Given the description of an element on the screen output the (x, y) to click on. 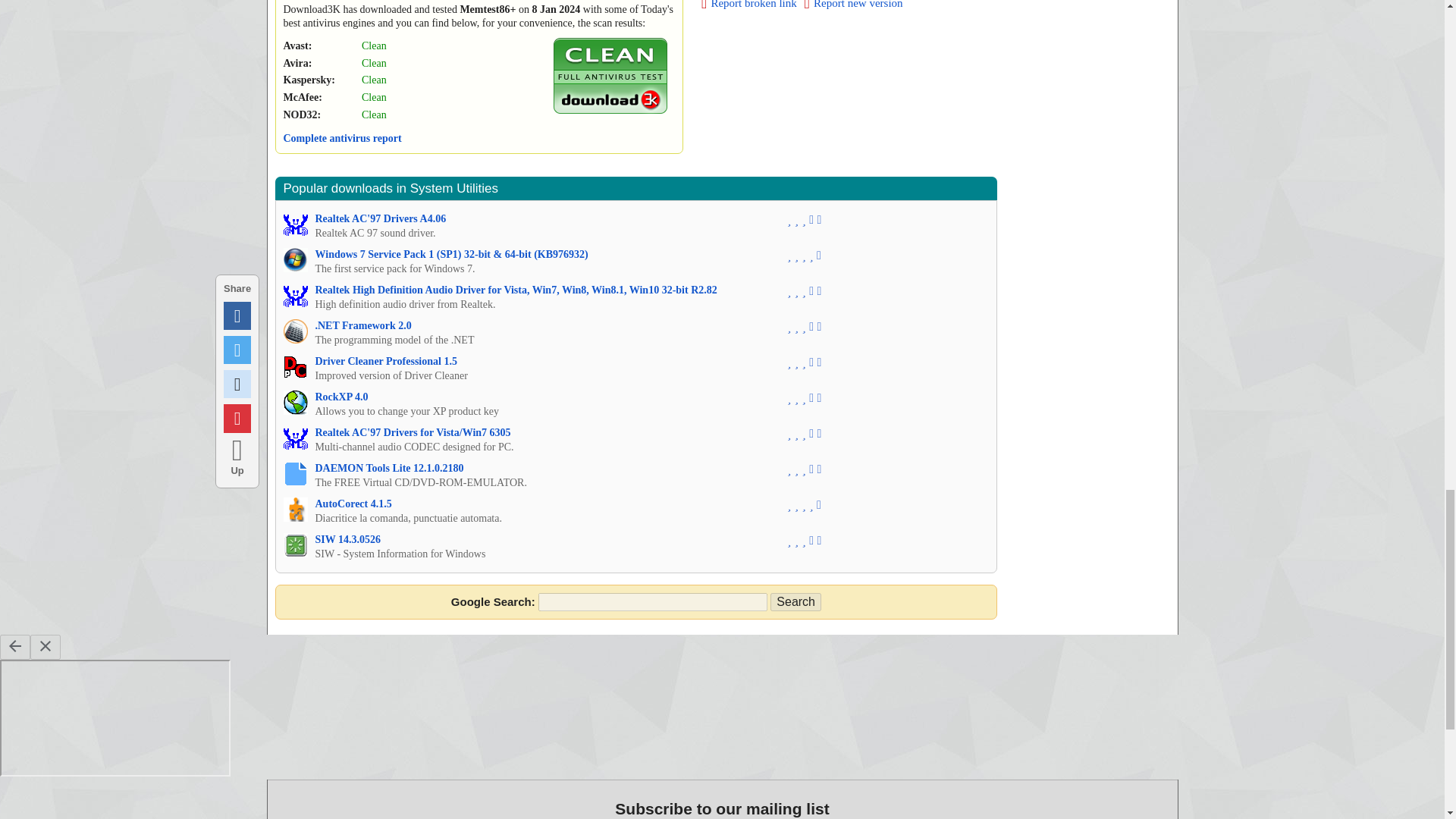
Realtek AC'97 Drivers A4.06 - Realtek AC 97 sound driver. (295, 224)
DAEMON Tools Lite 12.1.0.2180 (389, 468)
.NET Framework 2.0 - The programming model of the .NET (363, 325)
.NET Framework 2.0 (363, 325)
Realtek AC'97 Drivers A4.06 (380, 218)
Report new version (853, 4)
Complete antivirus report (342, 138)
Report broken link (748, 4)
Realtek AC'97 Drivers A4.06 - Realtek AC 97 sound driver. (380, 218)
AutoCorect 4.1.5 (353, 503)
Driver Cleaner Professional 1.5 (386, 360)
RockXP 4.0 (341, 396)
